Given the description of an element on the screen output the (x, y) to click on. 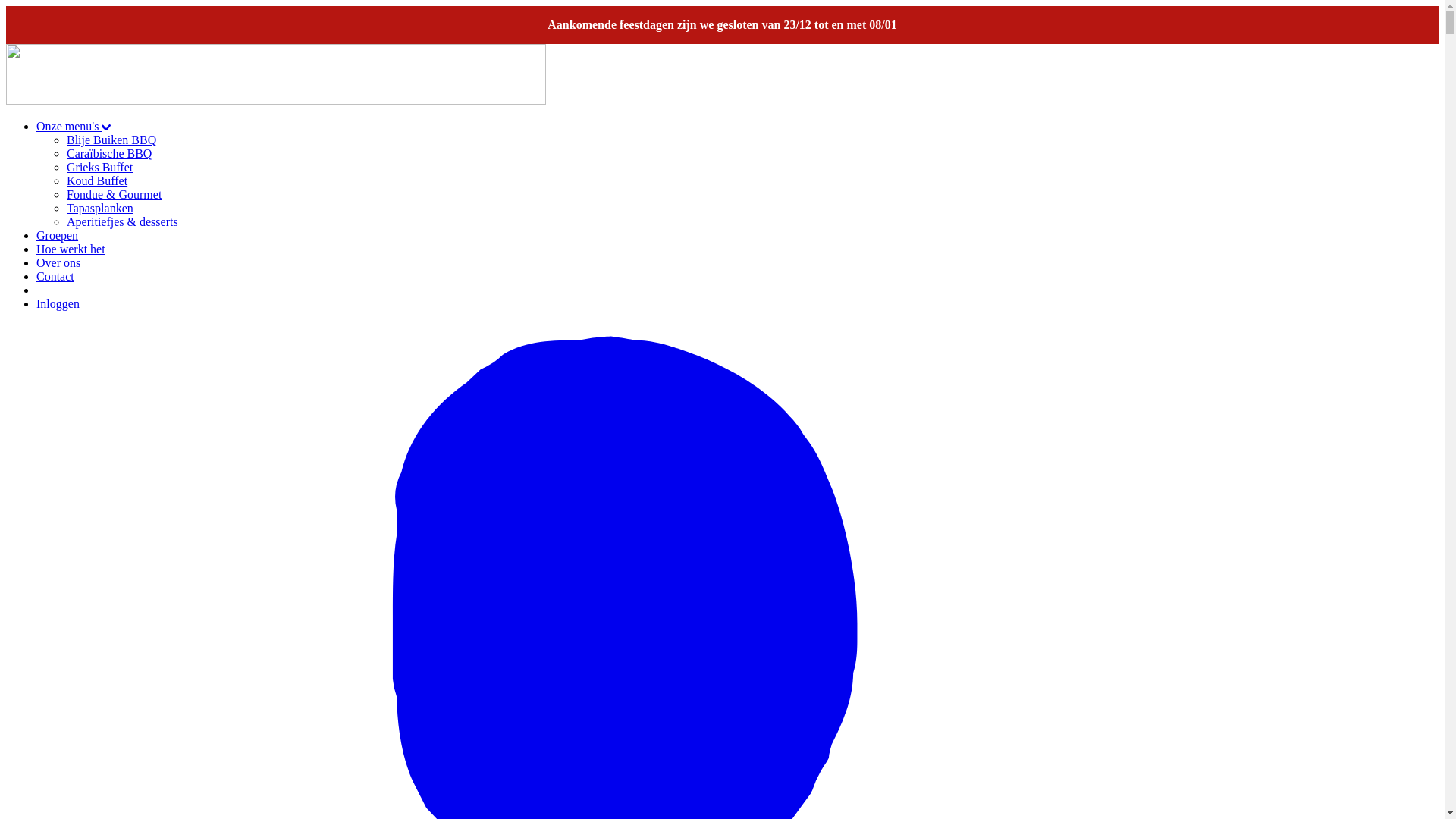
Blije Buiken BBQ Element type: text (111, 139)
Koud Buffet Element type: text (96, 180)
Fondue & Gourmet Element type: text (113, 194)
Contact Element type: text (55, 275)
Over ons Element type: text (58, 262)
Tapasplanken Element type: text (99, 207)
Onze menu's Element type: text (73, 125)
Groepen Element type: text (57, 235)
Aperitiefjes & desserts Element type: text (122, 221)
Grieks Buffet Element type: text (99, 166)
Inloggen Element type: text (57, 303)
Hoe werkt het Element type: text (70, 248)
